Given the description of an element on the screen output the (x, y) to click on. 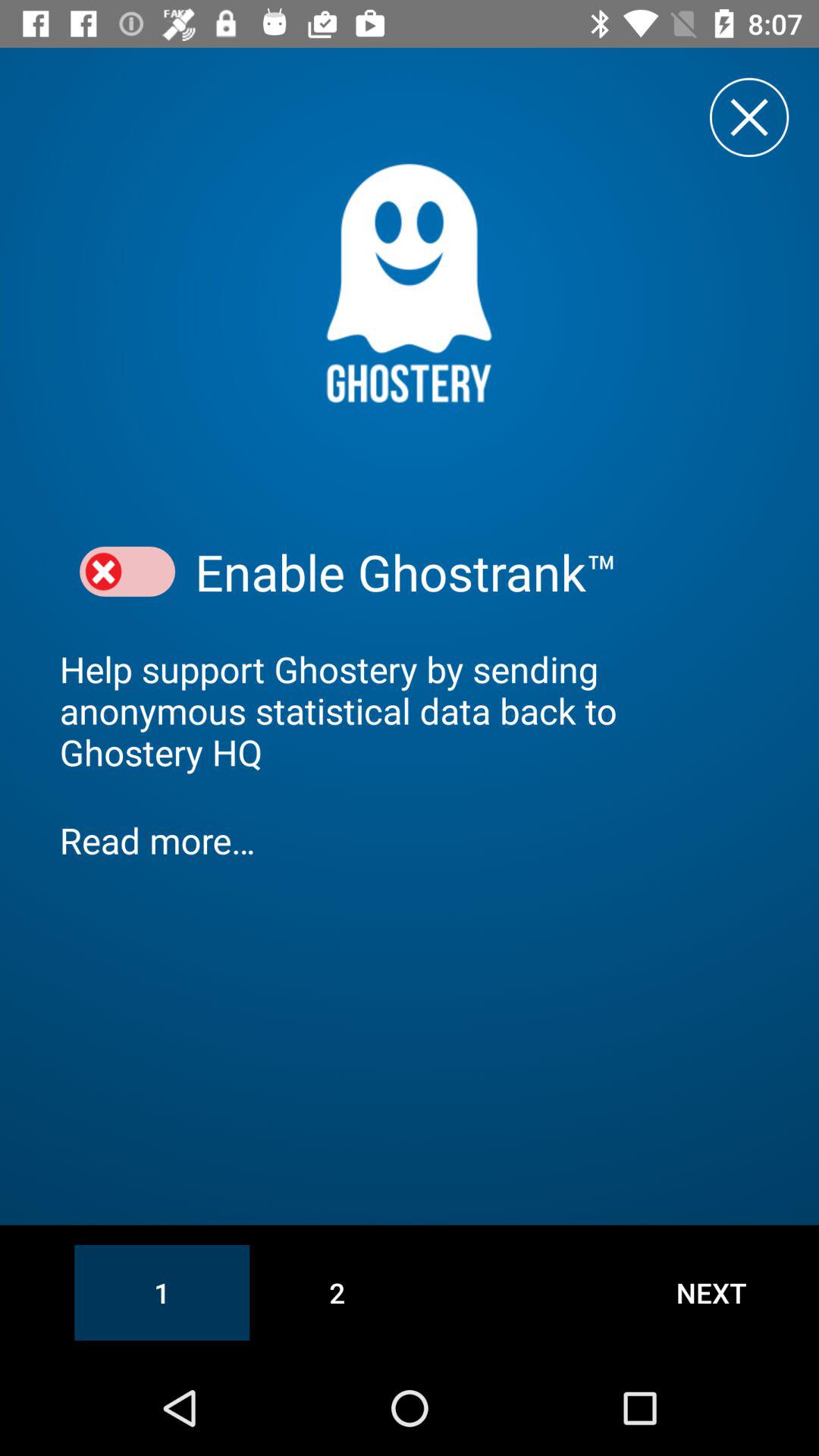
scroll to the 1 (161, 1292)
